Given the description of an element on the screen output the (x, y) to click on. 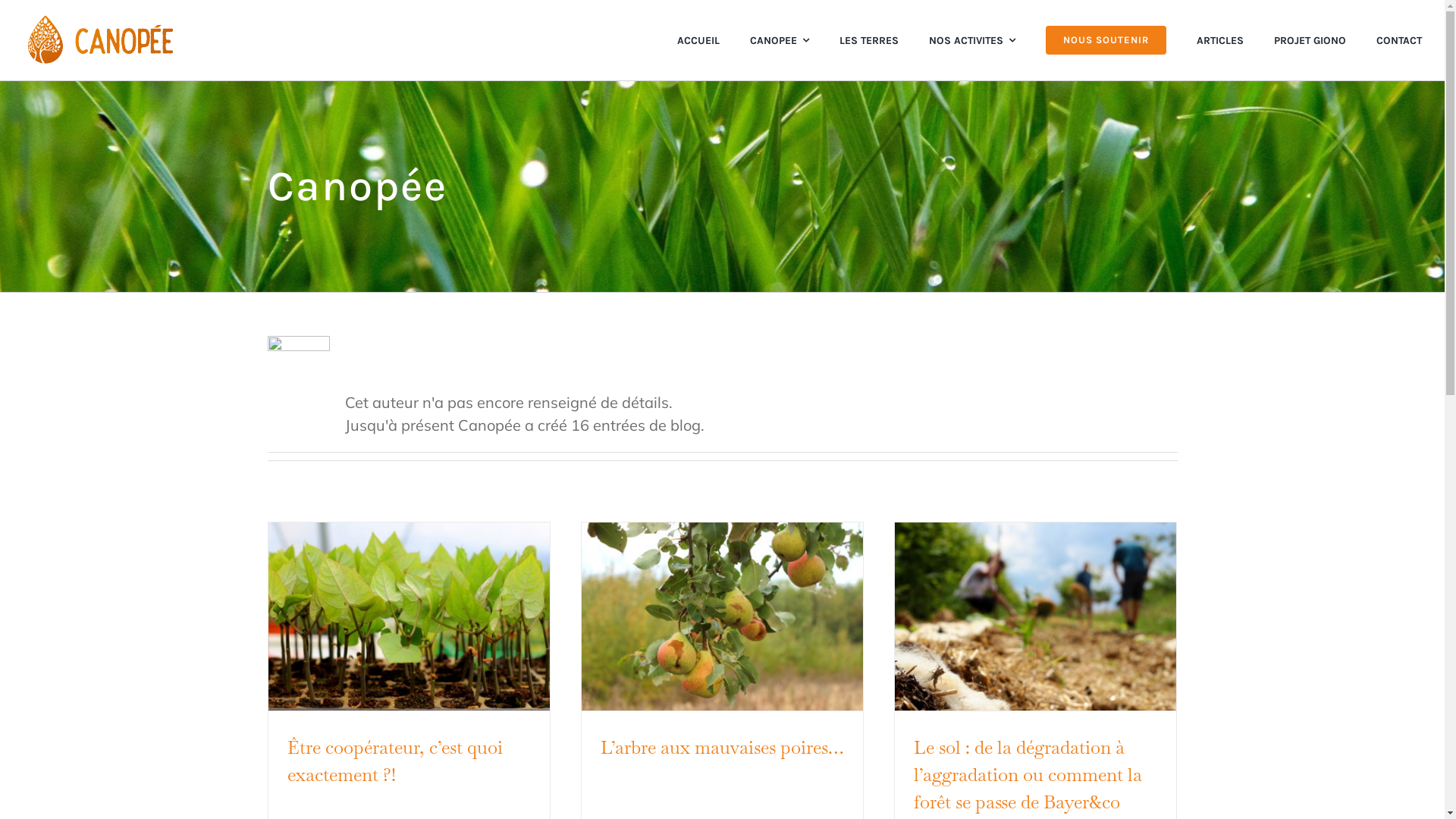
CONTACT Element type: text (1398, 39)
PROJET GIONO Element type: text (1310, 39)
ACCUEIL Element type: text (698, 39)
CANOPEE Element type: text (779, 39)
NOUS SOUTENIR Element type: text (1105, 39)
LES TERRES Element type: text (868, 39)
ARTICLES Element type: text (1219, 39)
NOS ACTIVITES Element type: text (971, 39)
